Given the description of an element on the screen output the (x, y) to click on. 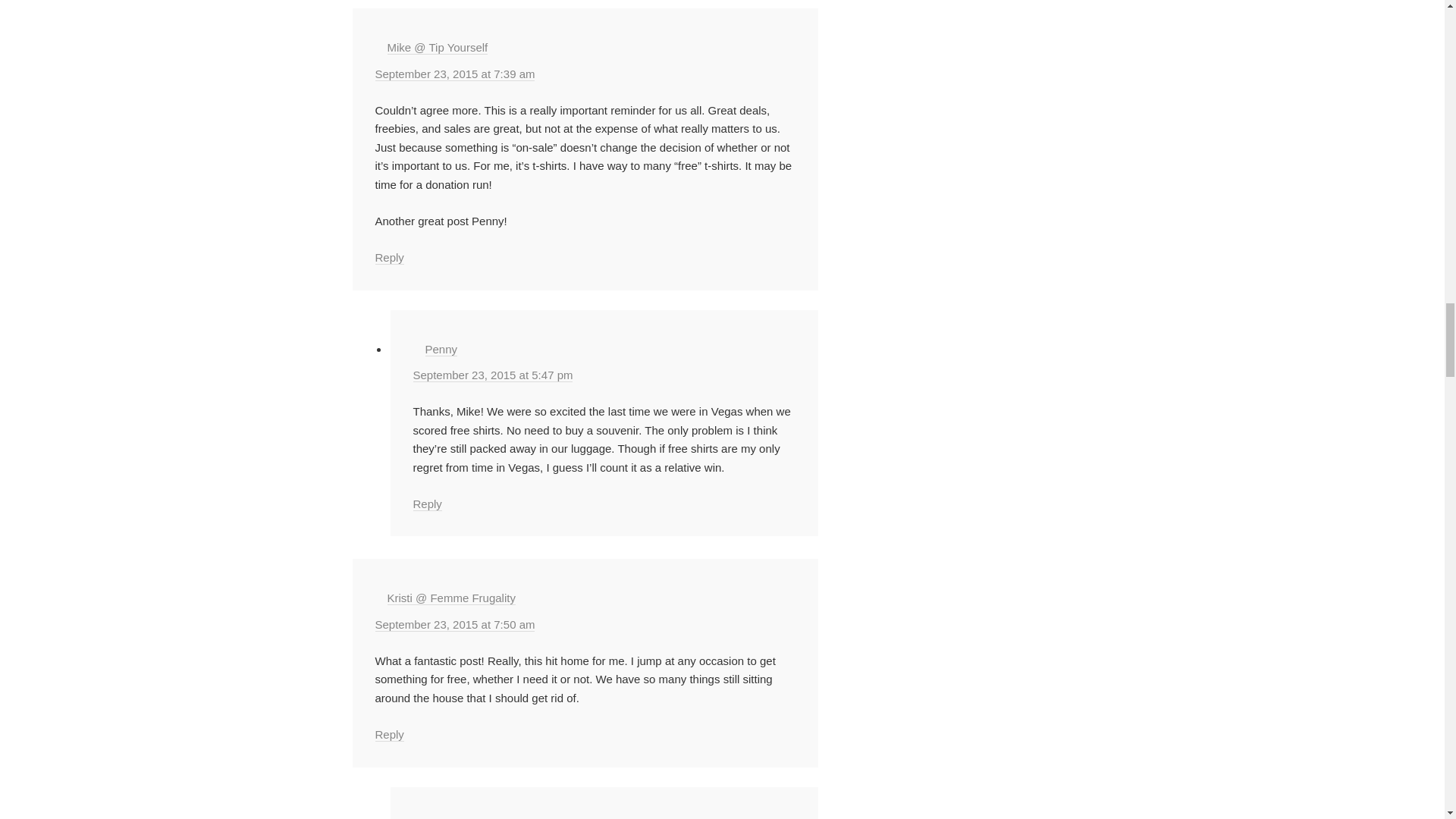
Reply (388, 257)
Wednesday, September 23, 2015, 7:50 am (454, 624)
September 23, 2015 at 5:47 pm (492, 375)
September 23, 2015 at 7:50 am (454, 624)
Wednesday, September 23, 2015, 7:39 am (454, 74)
September 23, 2015 at 7:39 am (454, 74)
Wednesday, September 23, 2015, 5:47 pm (492, 375)
Penny (441, 349)
Reply (426, 504)
